Given the description of an element on the screen output the (x, y) to click on. 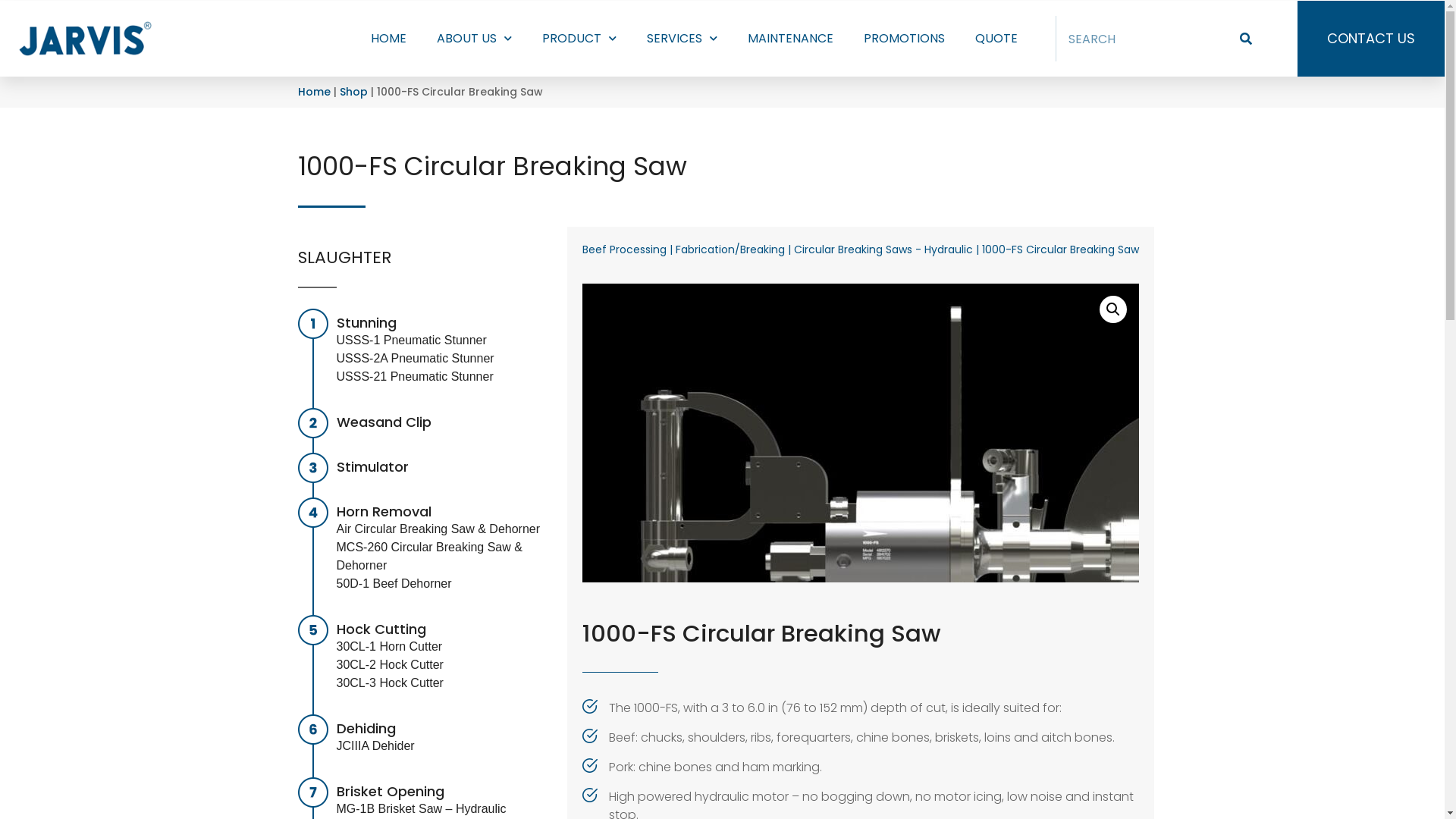
USSS-2A Pneumatic Stunner Element type: text (415, 357)
ABOUT US Element type: text (474, 38)
Shop Element type: text (353, 91)
USSS-1 Pneumatic Stunner Element type: text (411, 339)
Beef Processing Element type: text (624, 249)
30CL-1 Horn Cutter Element type: text (389, 646)
JCIIIA Dehider Element type: text (375, 745)
HOME Element type: text (388, 38)
Circular Breaking Saws - Hydraulic Element type: text (882, 249)
MAINTENANCE Element type: text (790, 38)
30CL-3 Hock Cutter Element type: text (389, 682)
Home Element type: text (313, 91)
Fabrication/Breaking Element type: text (729, 249)
CONTACT US Element type: text (1370, 38)
MCS-260 Circular Breaking Saw & Dehorner Element type: text (429, 555)
USSS-21 Pneumatic Stunner Element type: text (414, 376)
PRODUCT Element type: text (579, 38)
50D-1 Beef Dehorner Element type: text (393, 583)
30CL-2 Hock Cutter Element type: text (389, 664)
Air Circular Breaking Saw & Dehorner Element type: text (438, 528)
1000FS Element type: hover (860, 432)
QUOTE Element type: text (996, 38)
PROMOTIONS Element type: text (904, 38)
SERVICES Element type: text (681, 38)
